Given the description of an element on the screen output the (x, y) to click on. 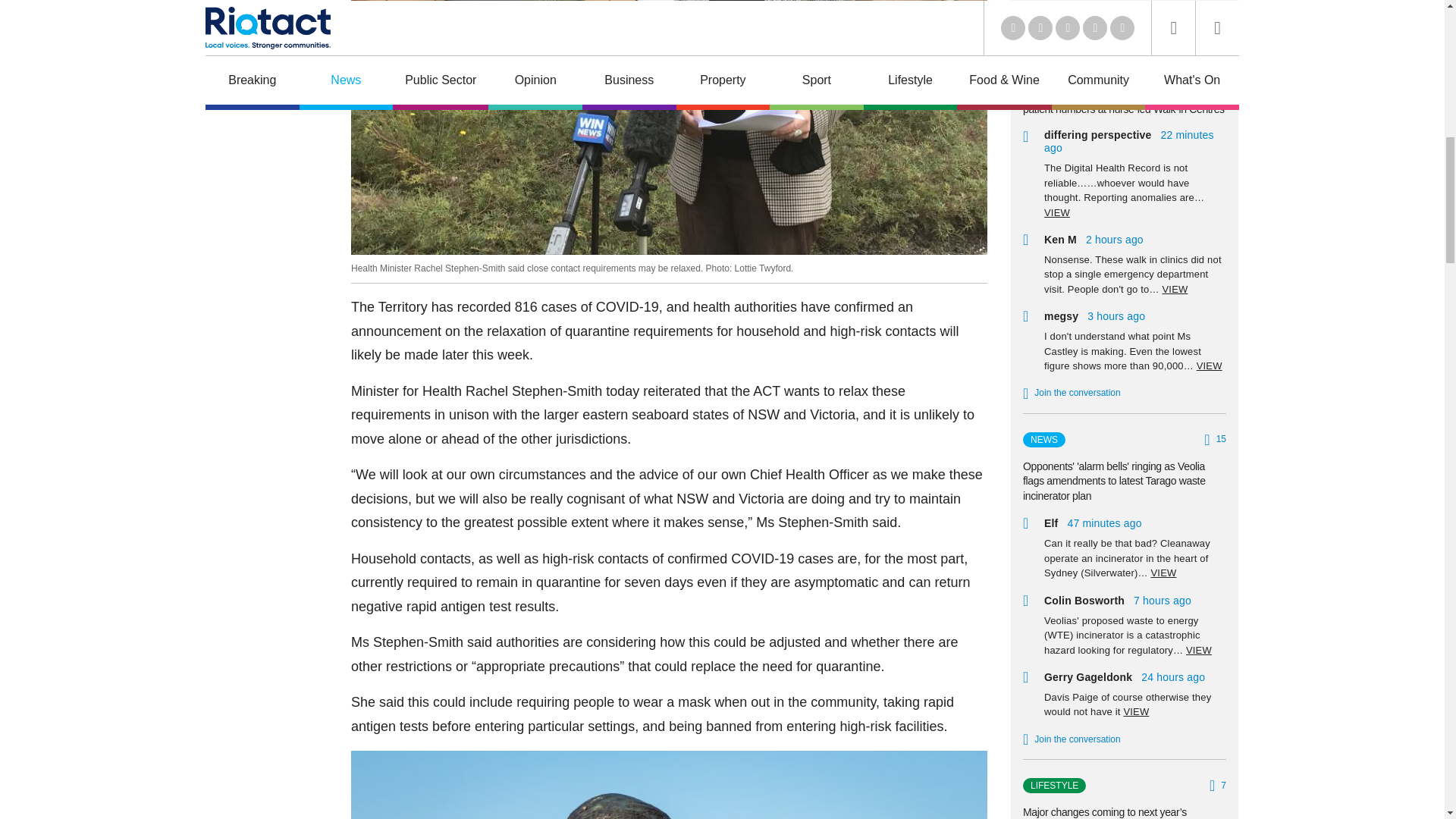
3rd party ad content (265, 33)
